Given the description of an element on the screen output the (x, y) to click on. 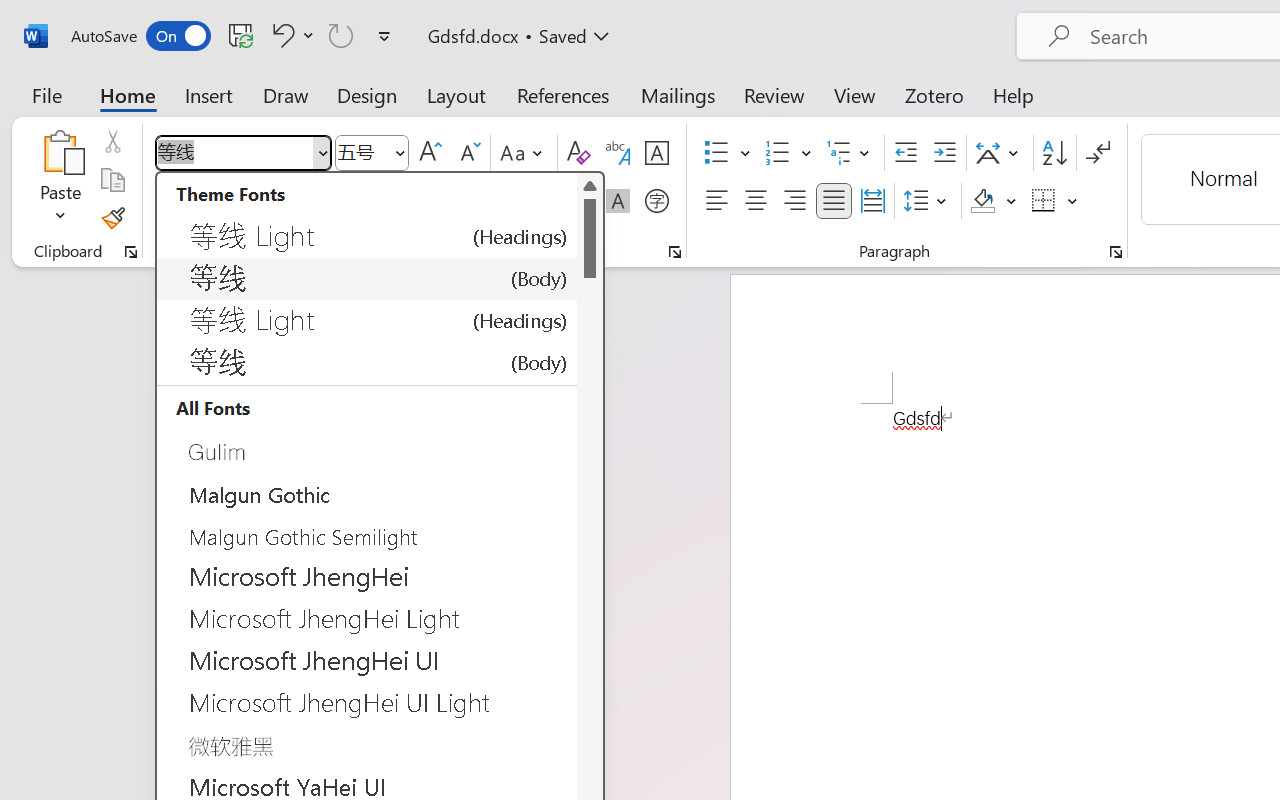
Clear Formatting (578, 153)
Font Color (567, 201)
Malgun Gothic (367, 492)
Asian Layout (1000, 153)
Multilevel List (850, 153)
Format Painter (112, 218)
Gulim (367, 451)
Center (756, 201)
Line and Paragraph Spacing (927, 201)
Decrease Indent (906, 153)
Microsoft YaHei Light (367, 745)
Justify (834, 201)
